Given the description of an element on the screen output the (x, y) to click on. 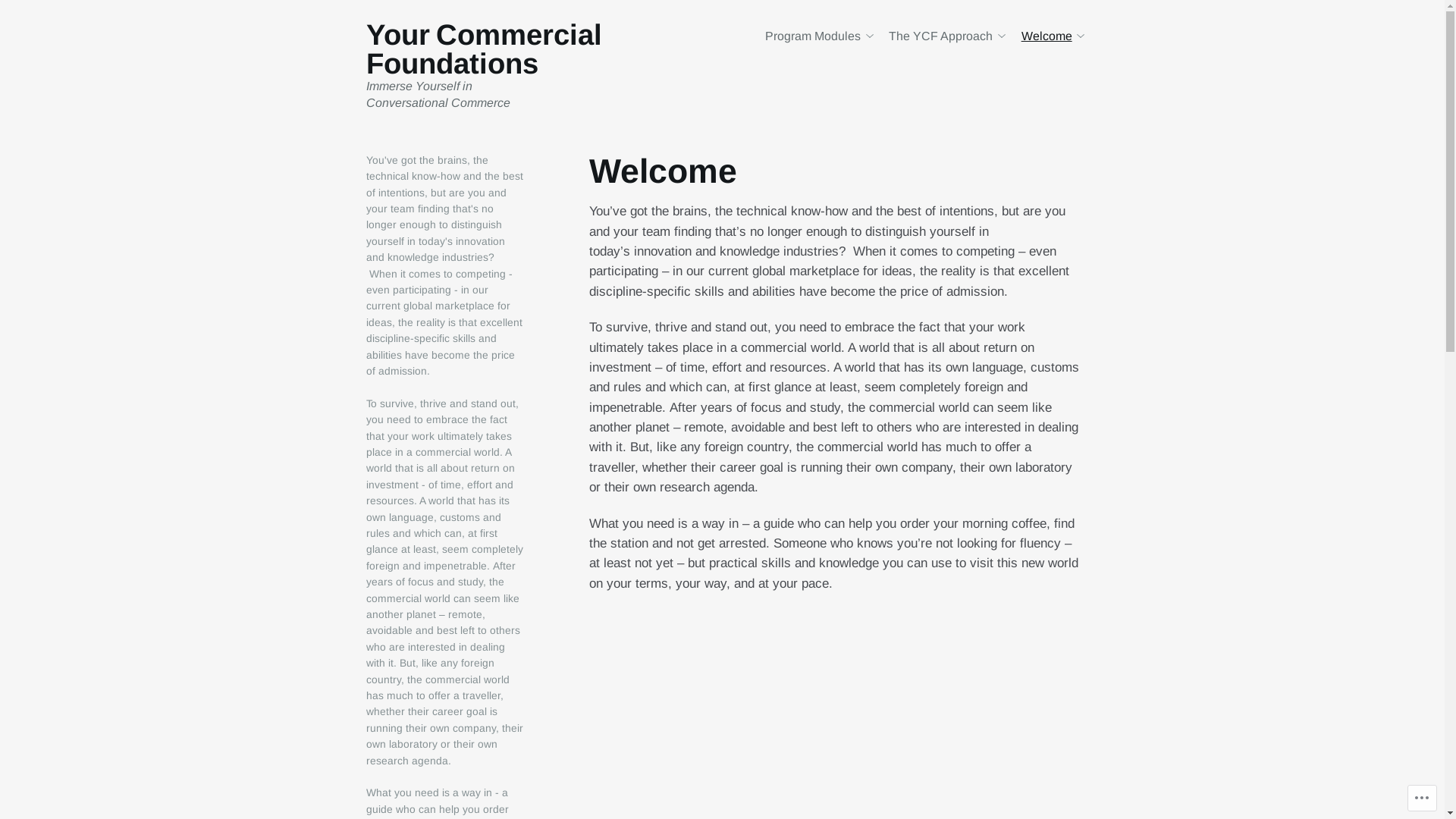
Your Commercial Foundations Element type: text (483, 48)
Welcome Element type: text (1052, 35)
Program Modules Element type: text (818, 35)
The YCF Approach Element type: text (946, 35)
